Given the description of an element on the screen output the (x, y) to click on. 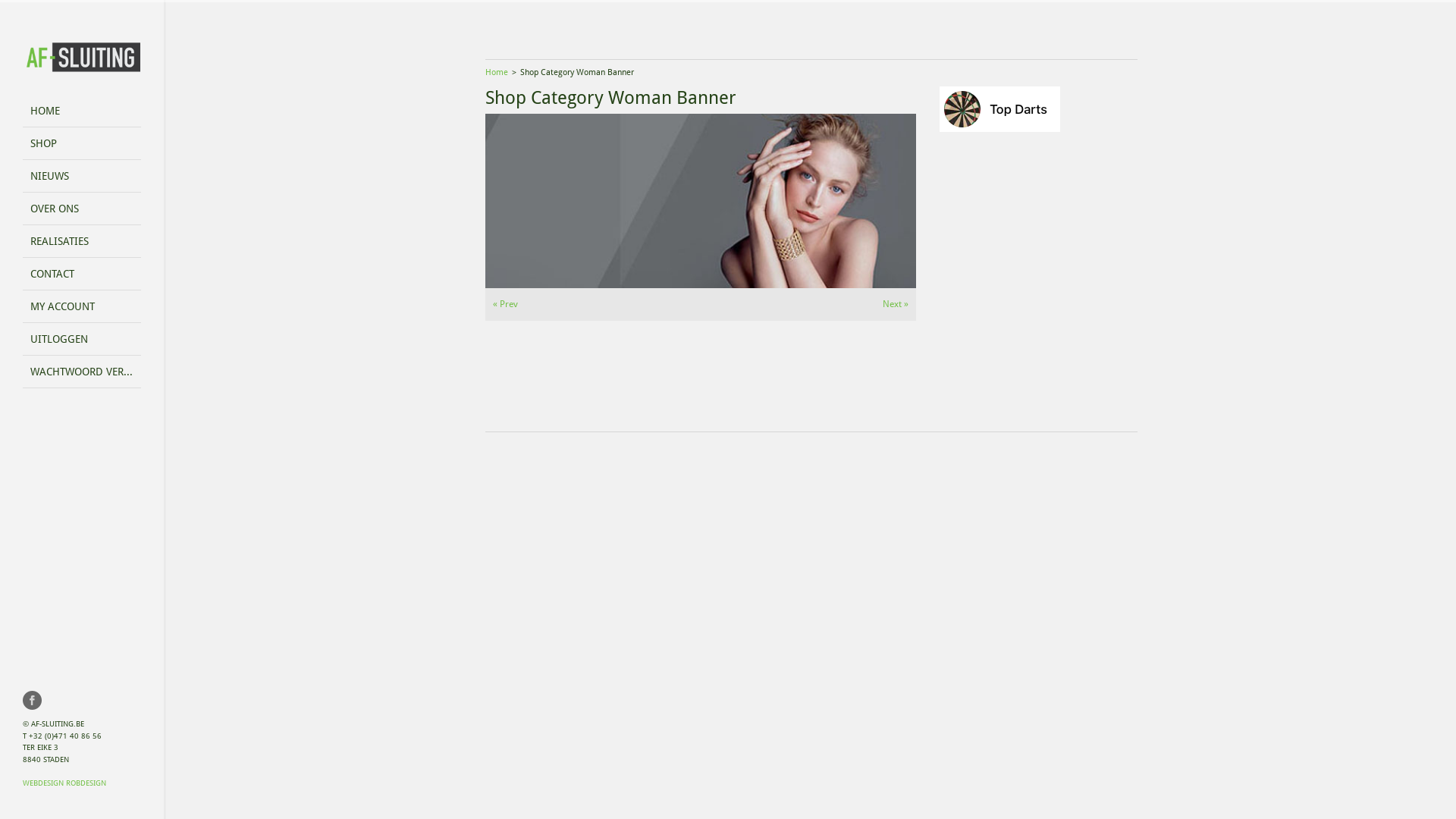
OVER ONS Element type: text (81, 208)
SHOP Element type: text (81, 143)
WEBDESIGN ROBDESIGN Element type: text (64, 782)
UITLOGGEN Element type: text (81, 339)
HOME Element type: text (81, 110)
Home Element type: text (496, 72)
WACHTWOORD VERGETEN Element type: text (81, 371)
NIEUWS Element type: text (81, 176)
REALISATIES Element type: text (81, 241)
CONTACT Element type: text (81, 273)
MY ACCOUNT Element type: text (81, 306)
Facebook Element type: hover (31, 699)
